Given the description of an element on the screen output the (x, y) to click on. 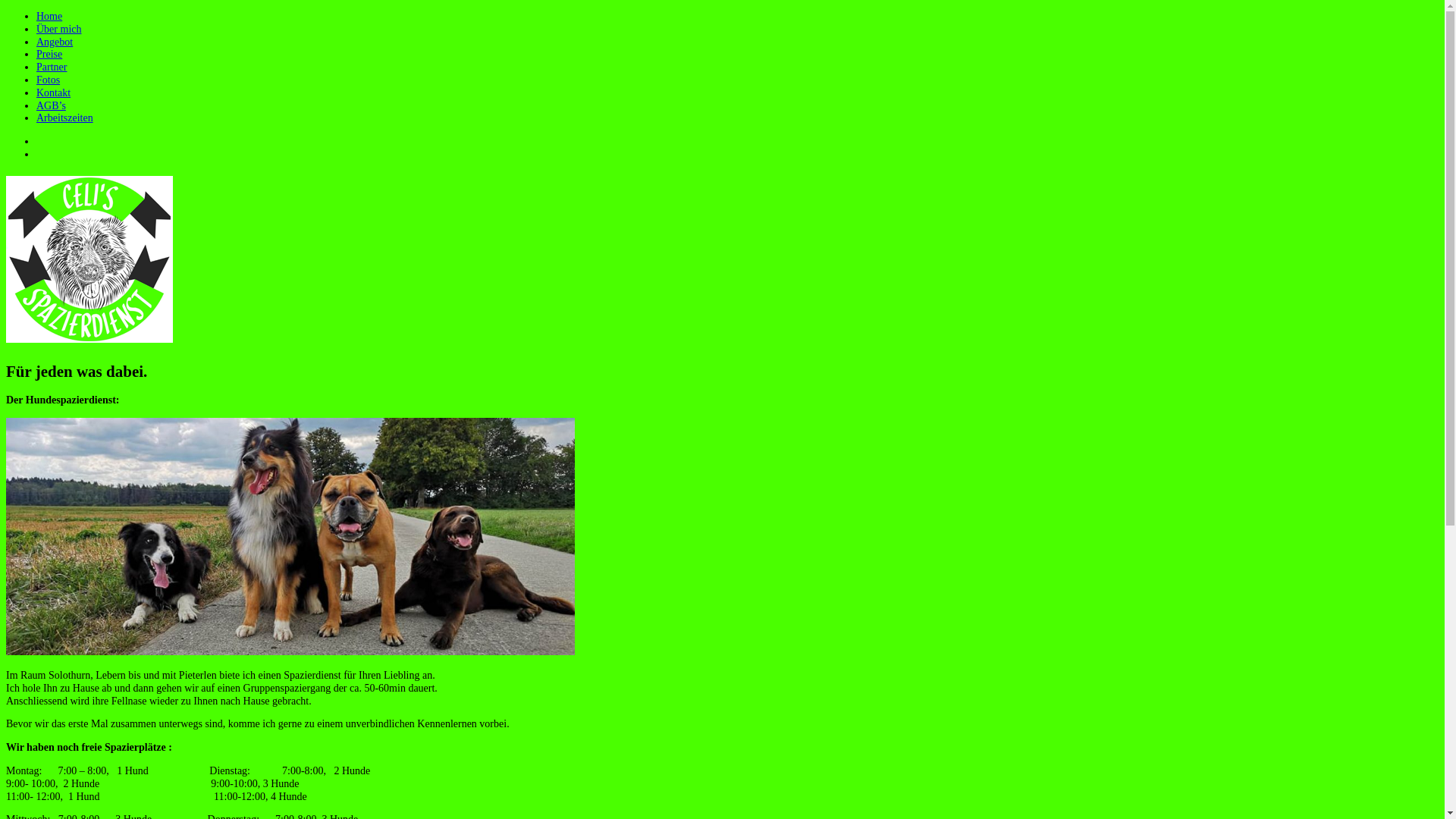
Home Element type: text (49, 15)
Arbeitszeiten Element type: text (64, 117)
Kontakt Element type: text (53, 92)
Angebot Element type: text (54, 41)
Preise Element type: text (49, 53)
Partner Element type: text (51, 66)
Fotos Element type: text (47, 79)
